Given the description of an element on the screen output the (x, y) to click on. 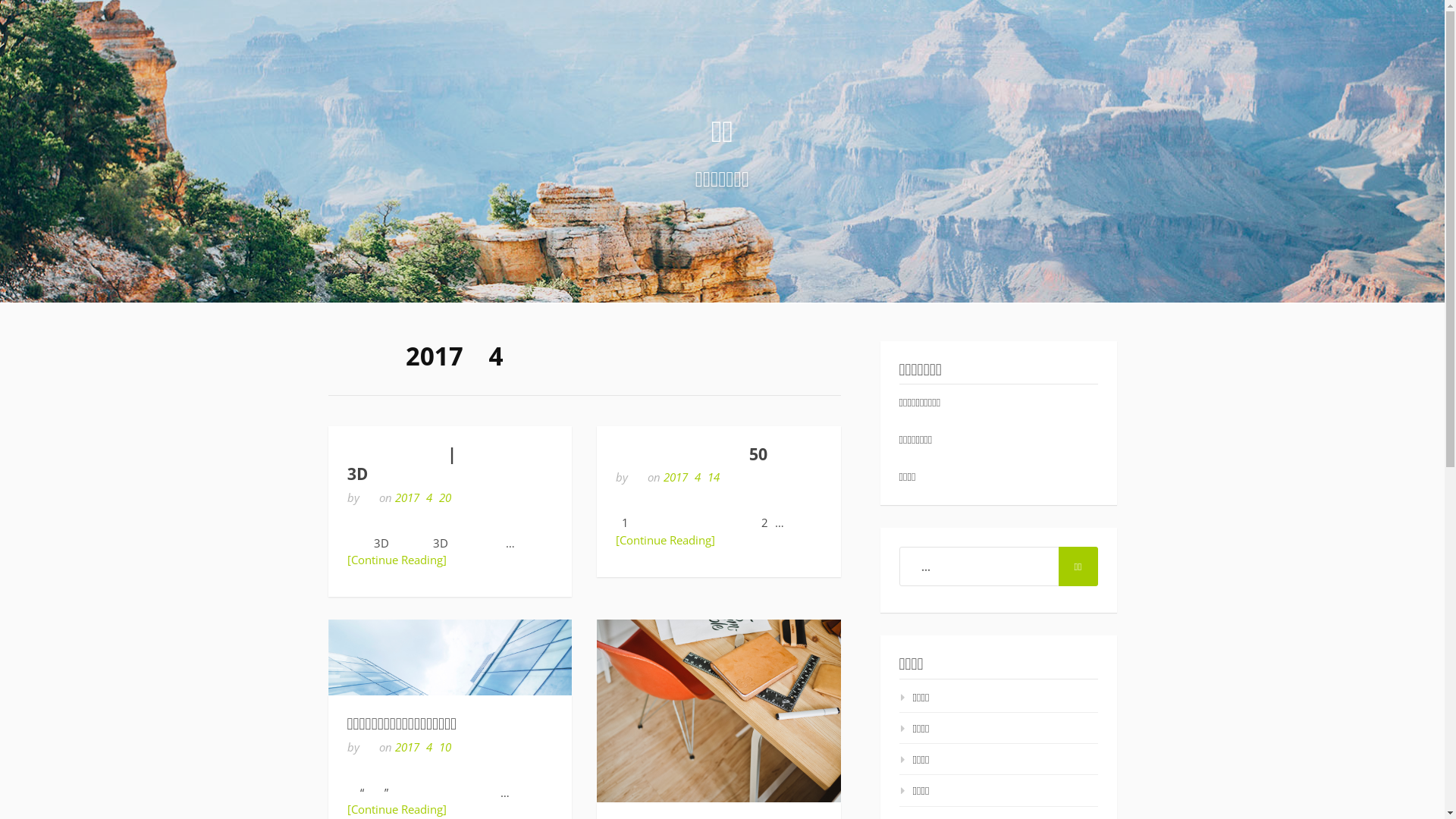
Skip to content Element type: text (0, 0)
[Continue Reading] Element type: text (396, 808)
[Continue Reading] Element type: text (665, 539)
[Continue Reading] Element type: text (396, 559)
